Given the description of an element on the screen output the (x, y) to click on. 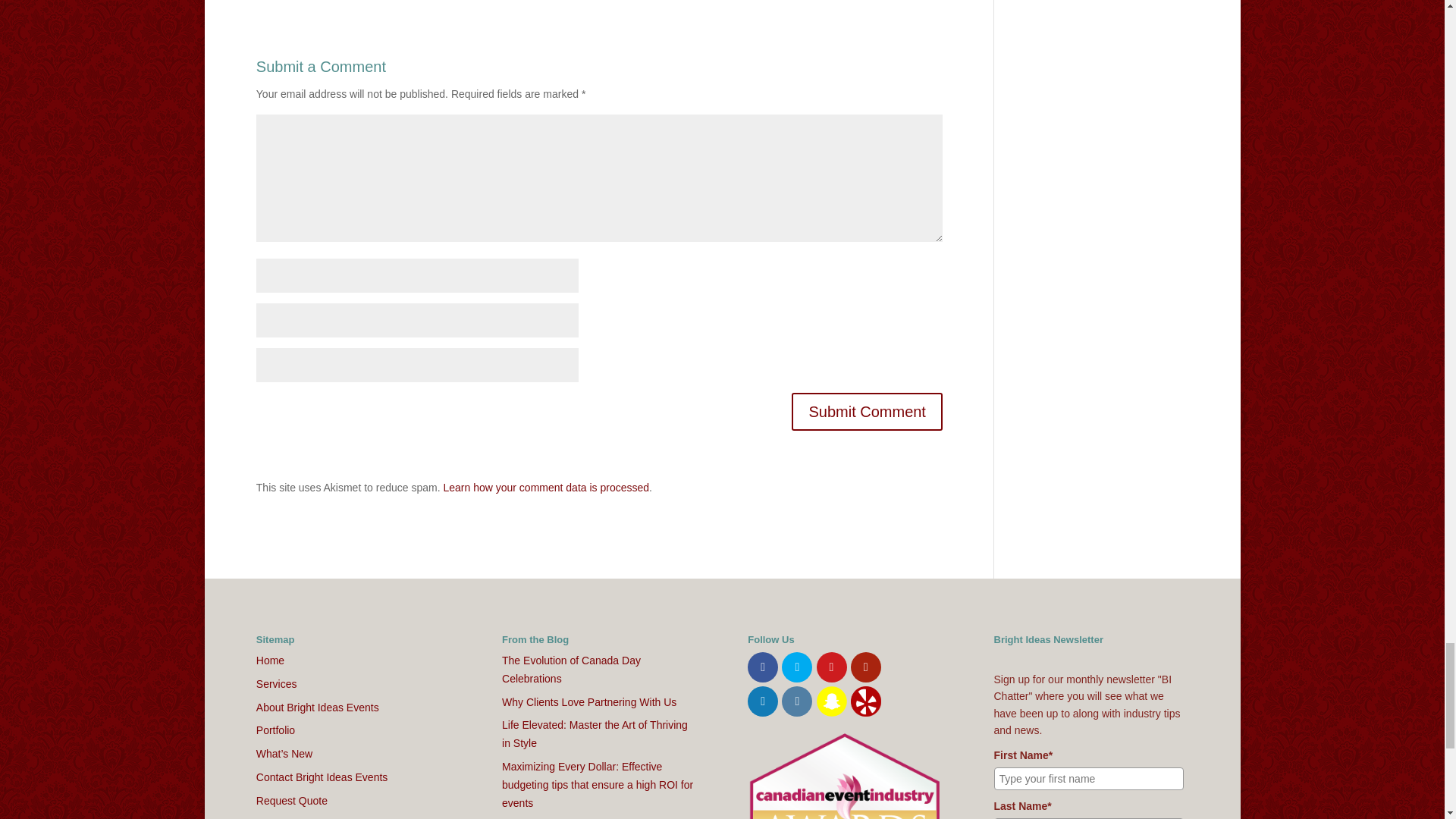
Submit Comment (867, 411)
